Given the description of an element on the screen output the (x, y) to click on. 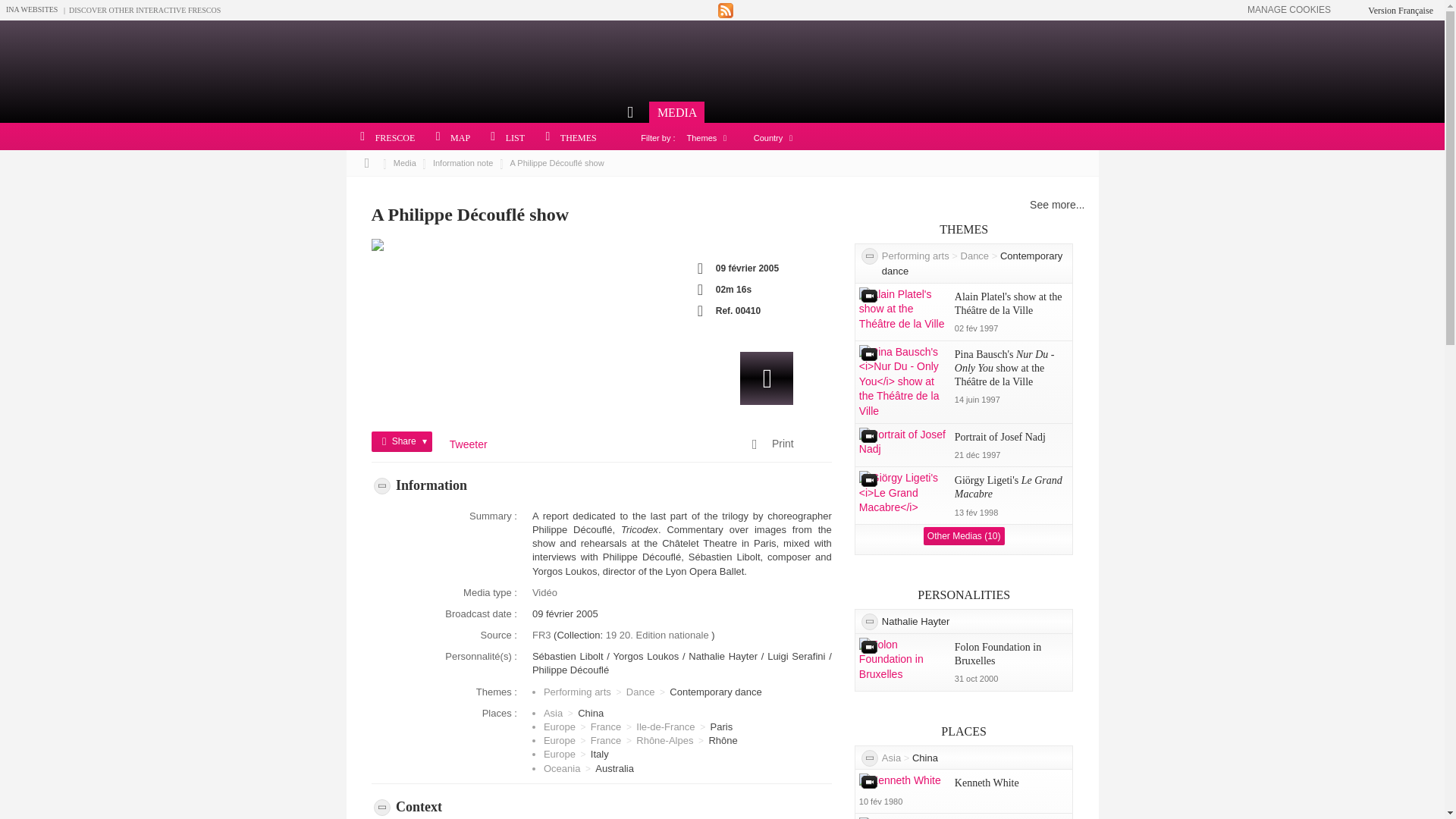
19 20. Edition nationale (658, 634)
Contemporary dance (715, 691)
China (591, 713)
MANAGE COOKIES (1288, 9)
Europe (559, 726)
France (606, 726)
Nathalie Hayter (724, 655)
Performing arts (577, 691)
FR3 (542, 634)
Dance (640, 691)
INA WEBSITES (32, 8)
LIST (502, 137)
FRESCOE (382, 137)
Tweeter (468, 444)
THEMES (565, 137)
